Given the description of an element on the screen output the (x, y) to click on. 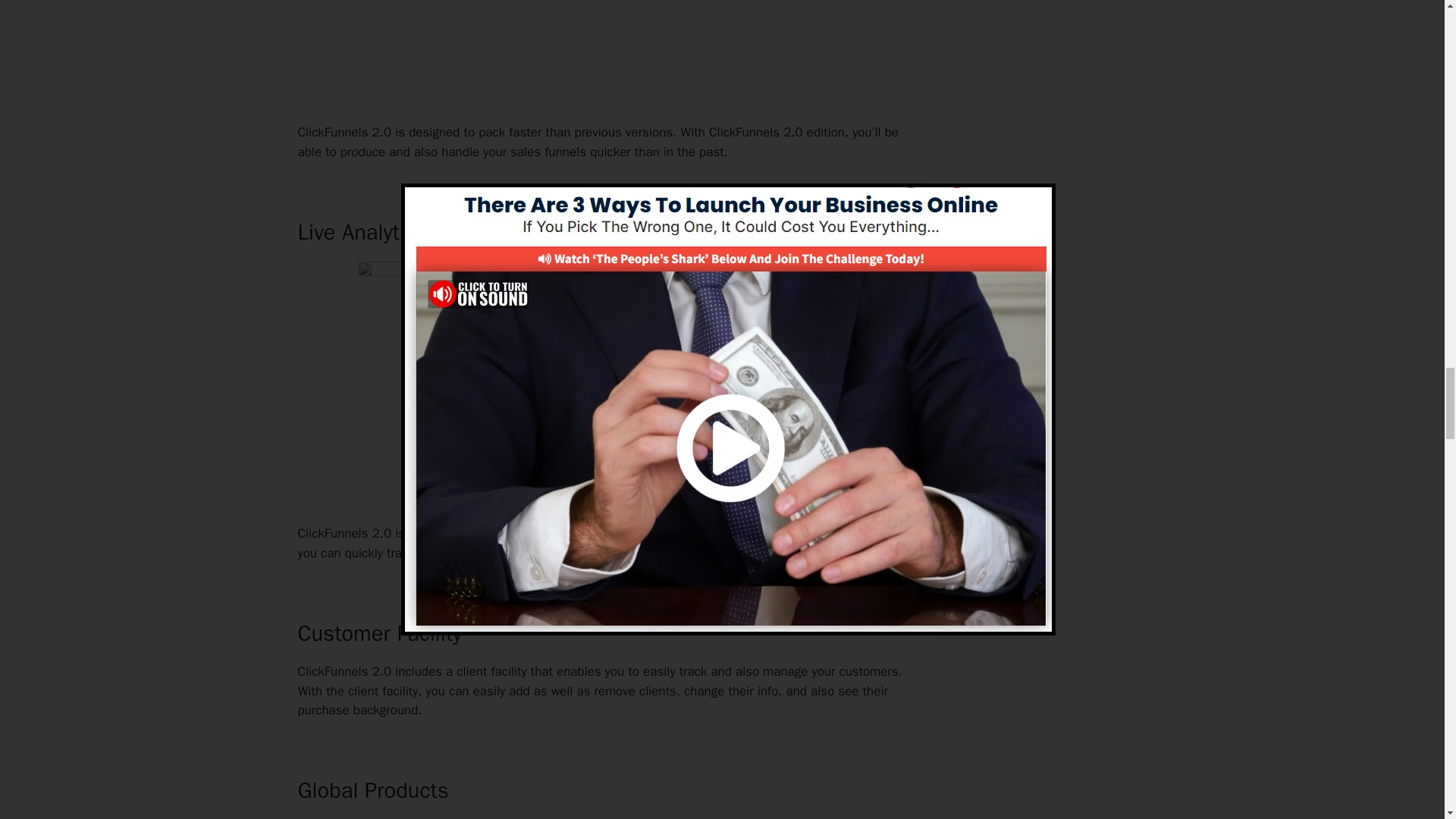
Stats (763, 533)
